Given the description of an element on the screen output the (x, y) to click on. 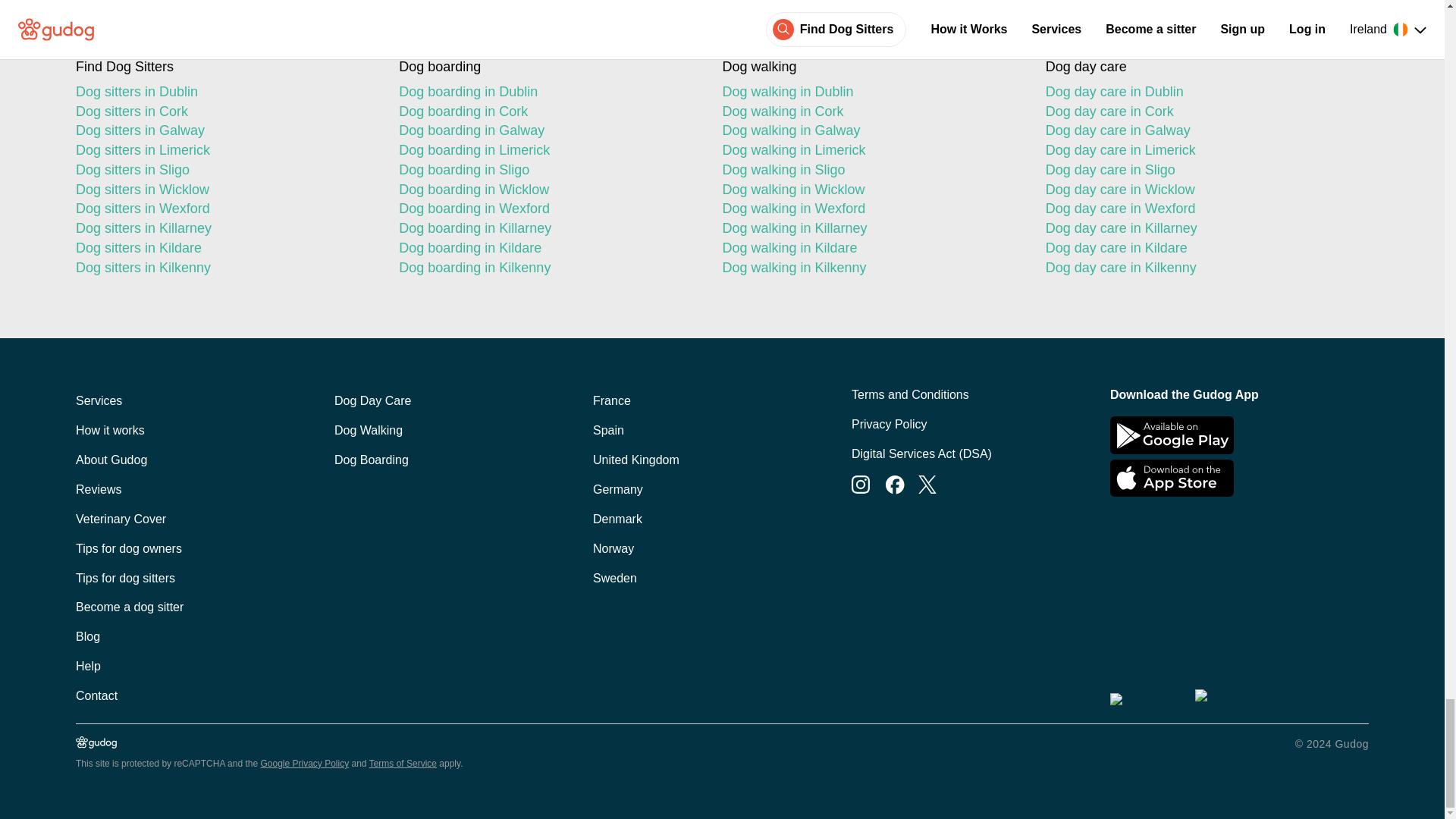
Dog sitters in Sligo (224, 170)
Dog boarding in Galway (547, 130)
Dog sitters in Killarney (224, 229)
Dog boarding in Dublin (547, 92)
Dog boarding in Cork (547, 112)
Dog sitters in Dublin (224, 92)
Dog sitters in Kilkenny (224, 268)
Dog sitters in Cork (224, 112)
Dog sitters in Limerick (224, 150)
Dog sitters in Wicklow (224, 189)
